Given the description of an element on the screen output the (x, y) to click on. 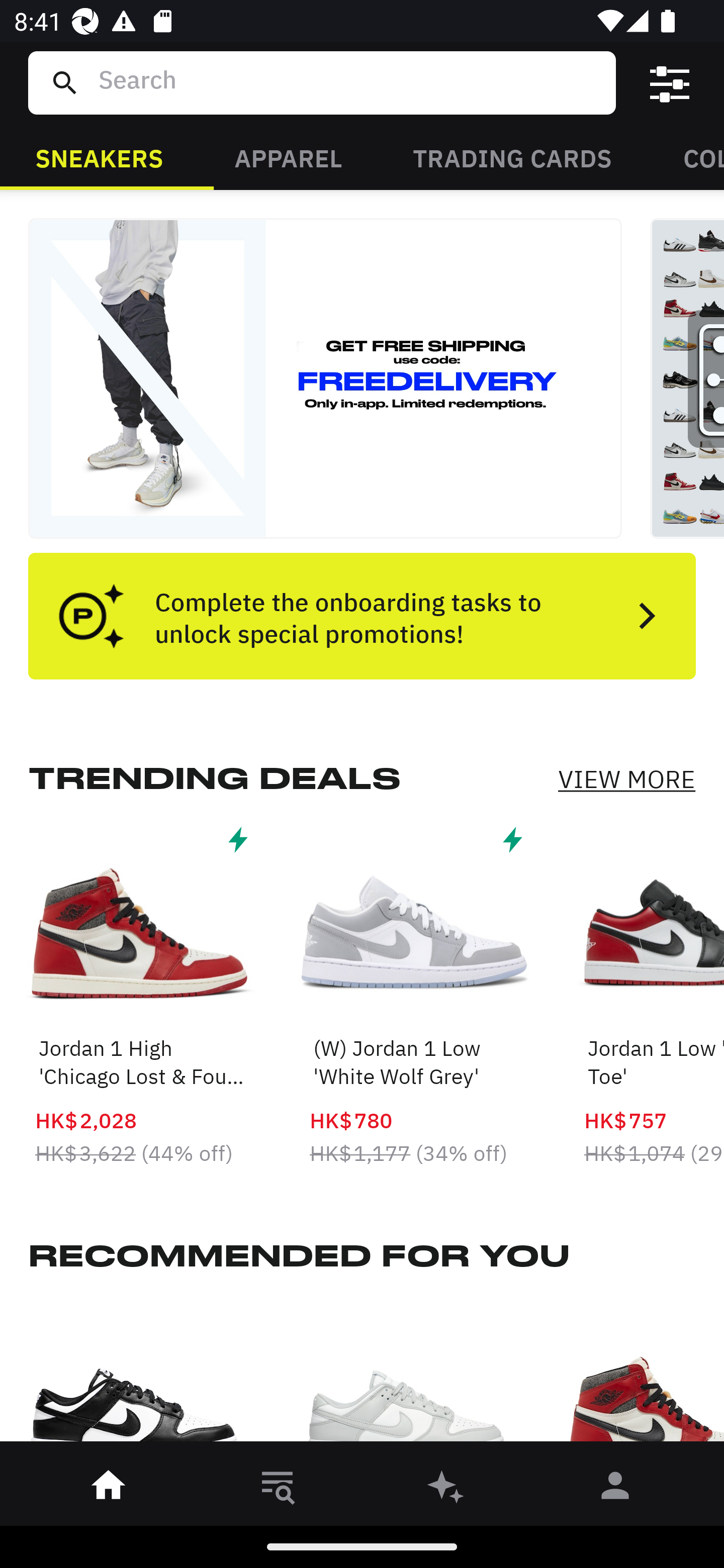
Search (349, 82)
 (669, 82)
SNEAKERS (99, 156)
APPAREL (287, 156)
TRADING CARDS (512, 156)
VIEW MORE (626, 779)
󰋜 (108, 1488)
󱎸 (277, 1488)
󰫢 (446, 1488)
󰀄 (615, 1488)
